Given the description of an element on the screen output the (x, y) to click on. 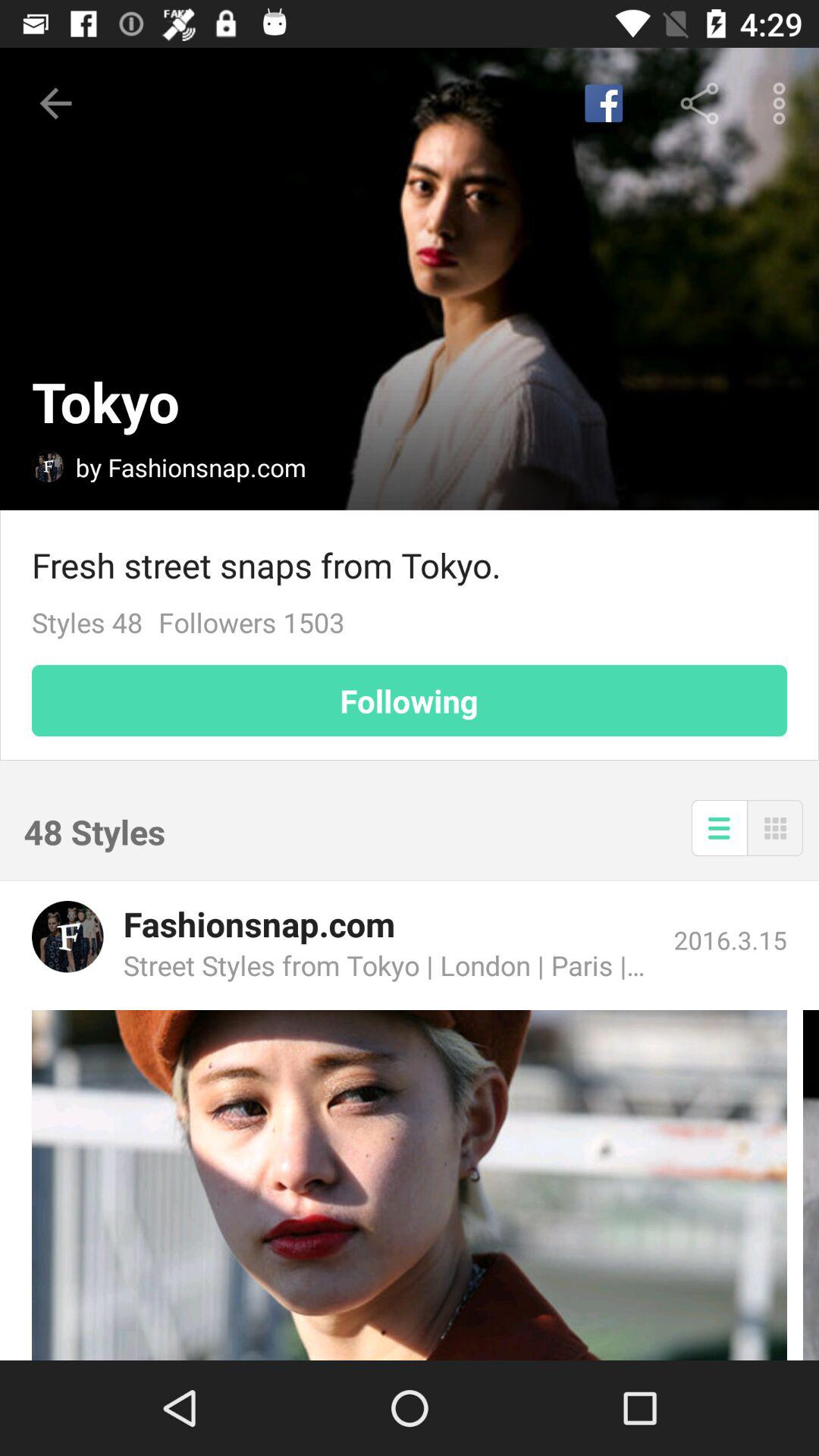
turn on item above fresh street snaps icon (603, 103)
